Given the description of an element on the screen output the (x, y) to click on. 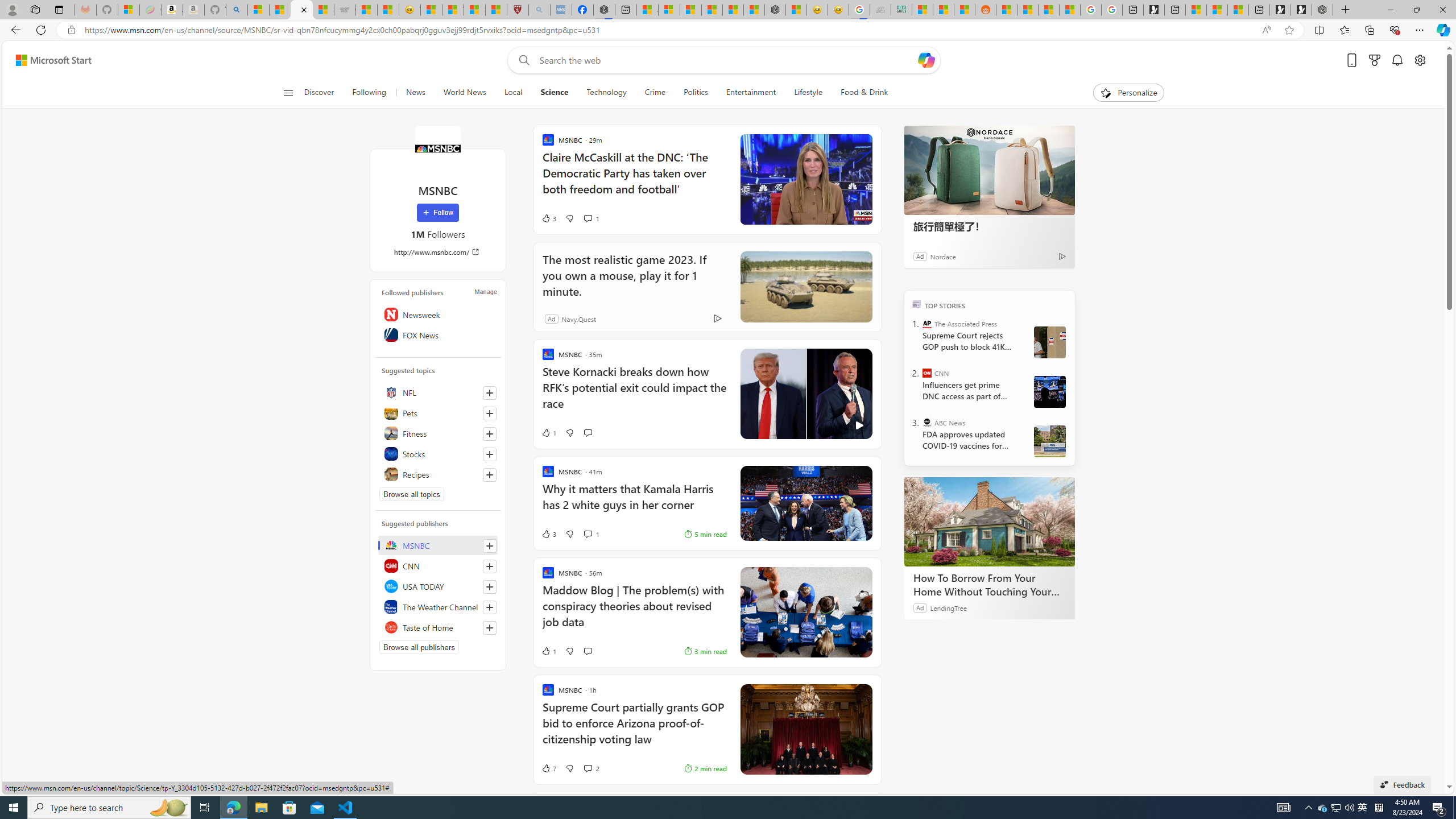
Feedback (1402, 784)
Ad Choice (717, 318)
Stocks - MSN (323, 9)
View comments 1 Comment (591, 533)
Microsoft rewards (1374, 60)
Open Copilot (925, 59)
Nordace - #1 Japanese Best-Seller - Siena Smart Backpack (775, 9)
Recipes (437, 474)
Food & Drink (864, 92)
Entertainment (750, 92)
